Given the description of an element on the screen output the (x, y) to click on. 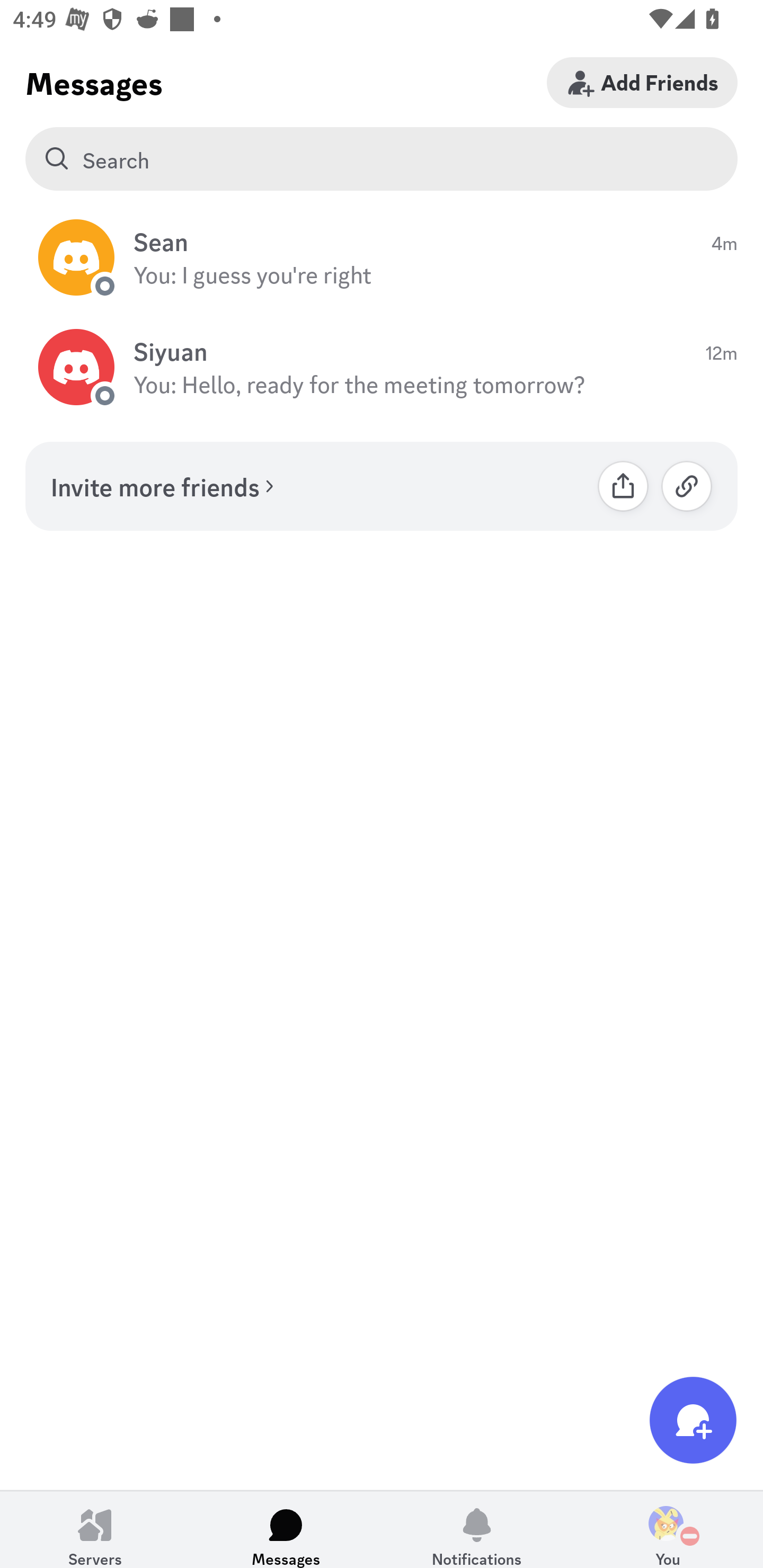
Add Friends (642, 82)
Search (381, 159)
Share Link (622, 485)
Copy Link (686, 485)
New Message (692, 1419)
Servers (95, 1529)
Messages (285, 1529)
Notifications (476, 1529)
You (667, 1529)
